Given the description of an element on the screen output the (x, y) to click on. 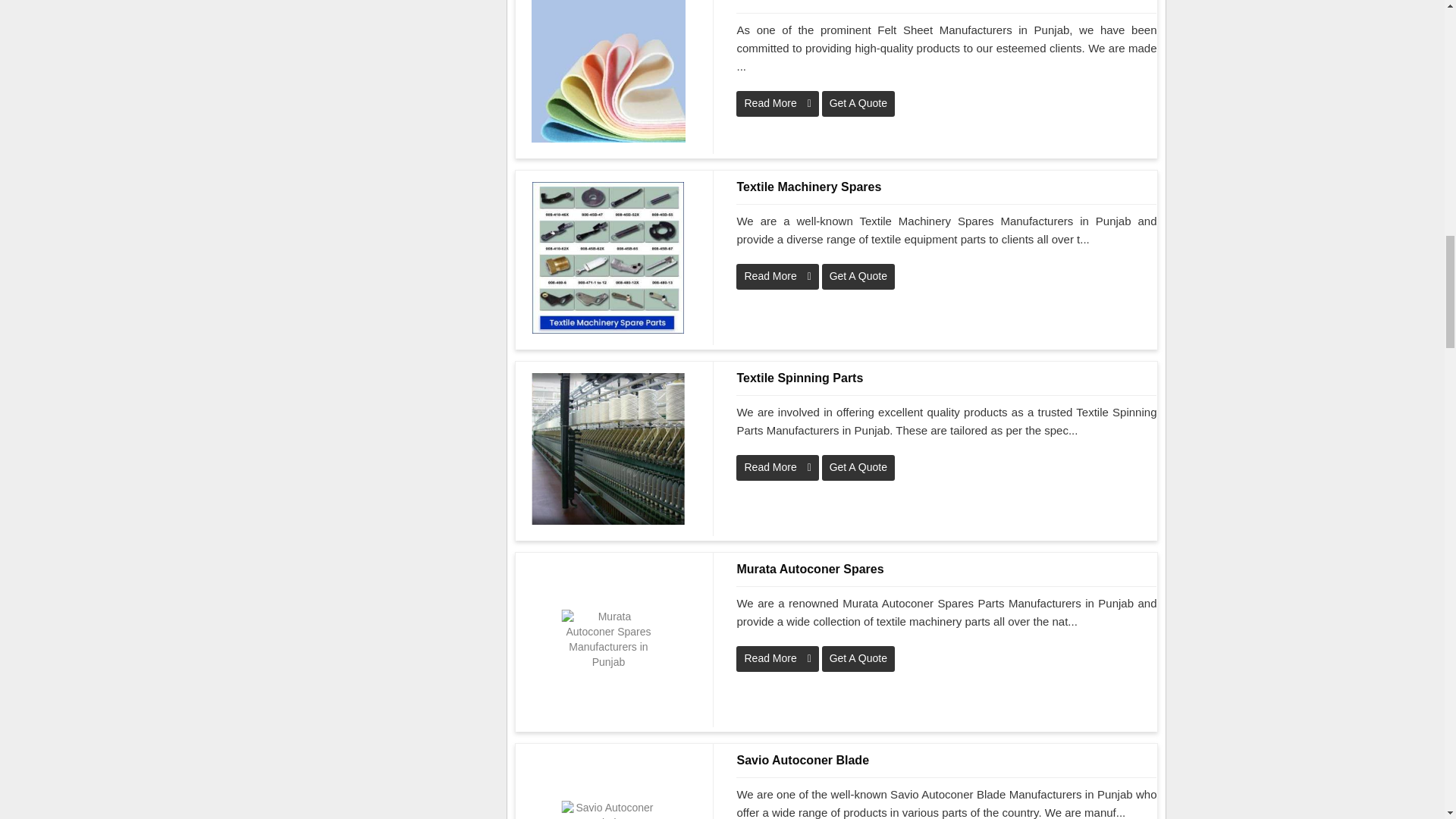
Read More (777, 658)
Get A Quote (858, 276)
Murata Autoconer Spares (946, 569)
Textile Spinning Parts (946, 378)
Read More (777, 467)
Textile Machinery Spares (946, 187)
Get A Quote (858, 103)
Felt Sheets (946, 2)
Read More (777, 276)
Read More (777, 103)
Get A Quote (858, 467)
